Given the description of an element on the screen output the (x, y) to click on. 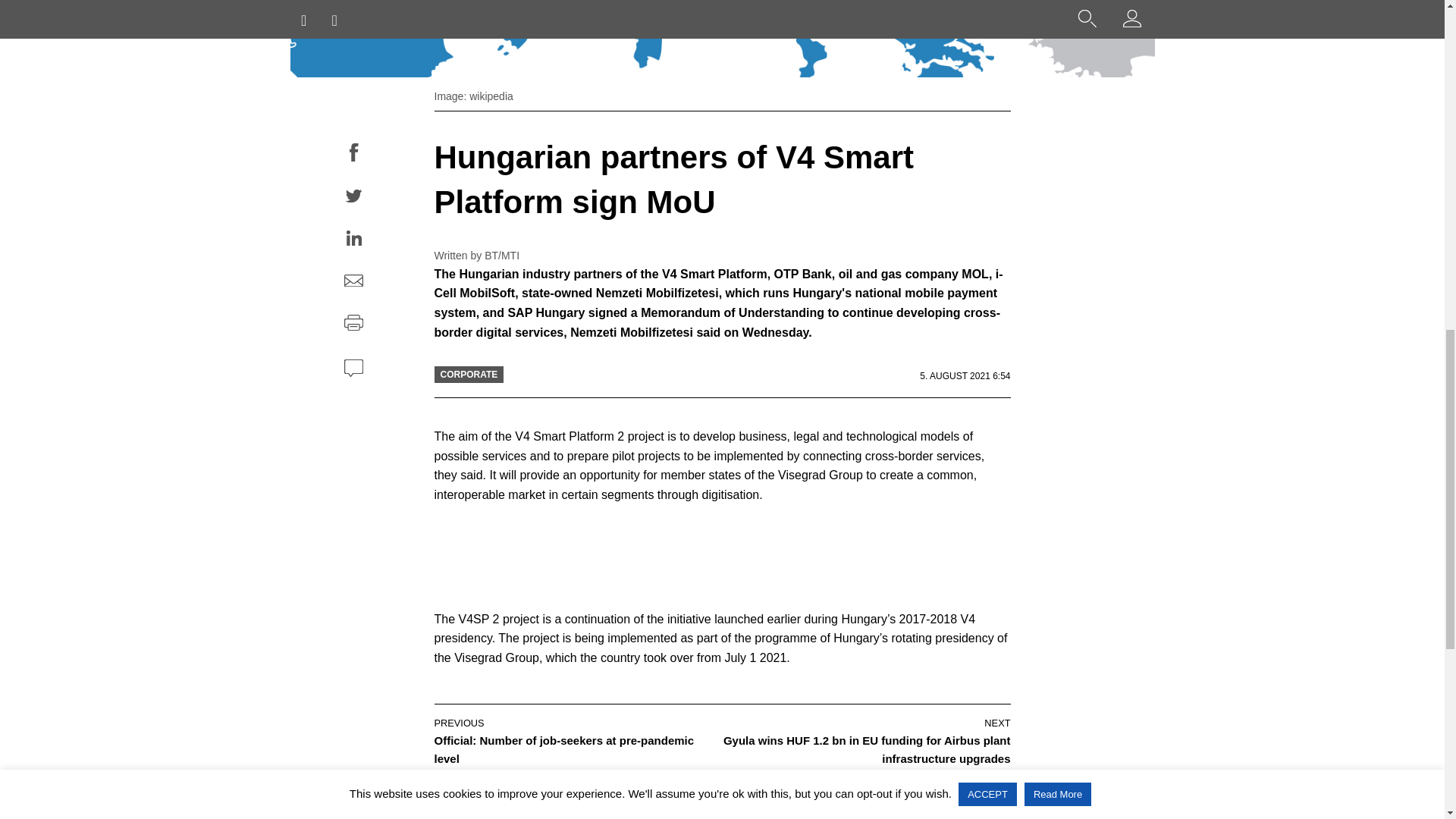
Facebook (352, 155)
Twitter (352, 198)
Print (352, 324)
LinkedIn (352, 240)
Email (352, 282)
